Given the description of an element on the screen output the (x, y) to click on. 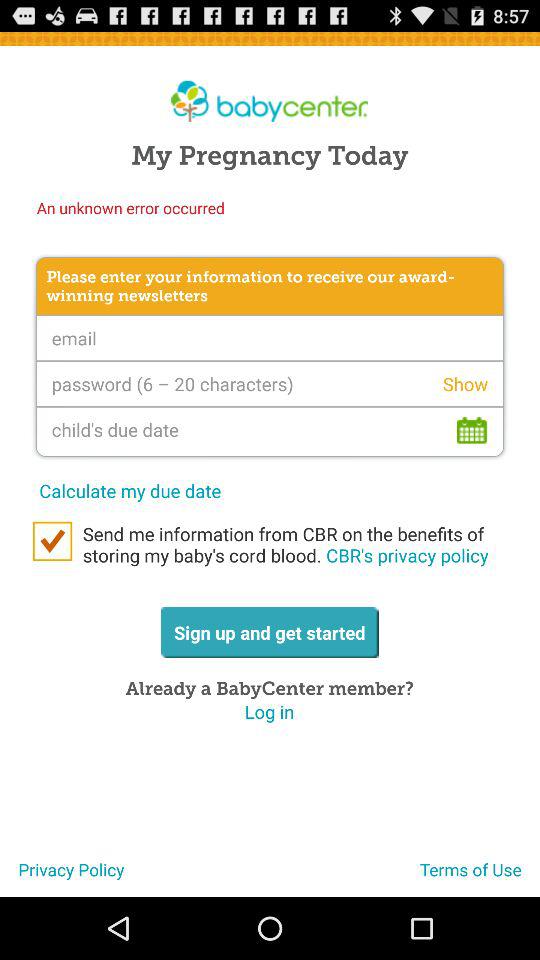
open sign up and item (269, 632)
